Given the description of an element on the screen output the (x, y) to click on. 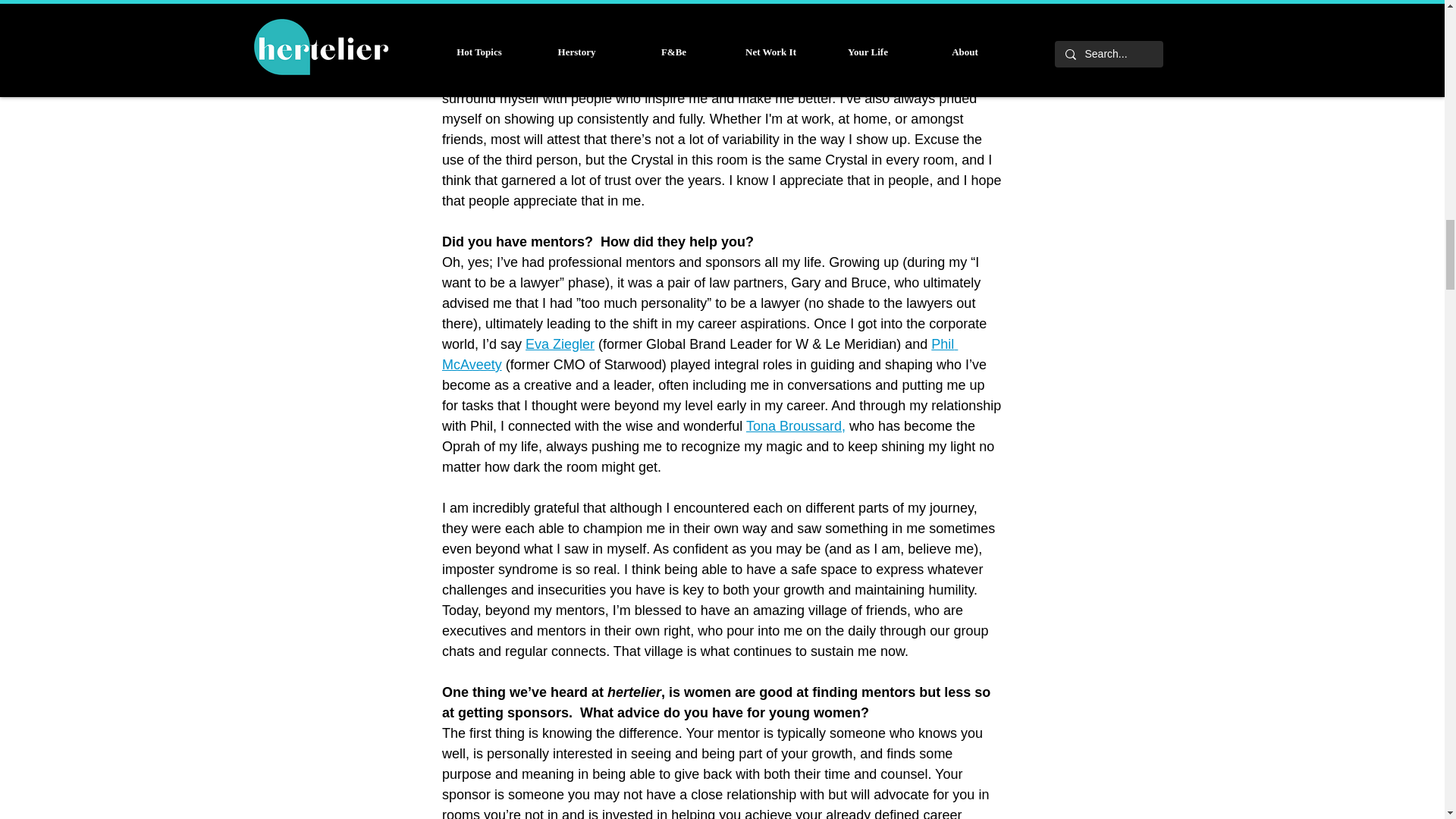
Phil McAveety (698, 354)
Tona Broussard (793, 426)
Eva Ziegler (559, 344)
